Given the description of an element on the screen output the (x, y) to click on. 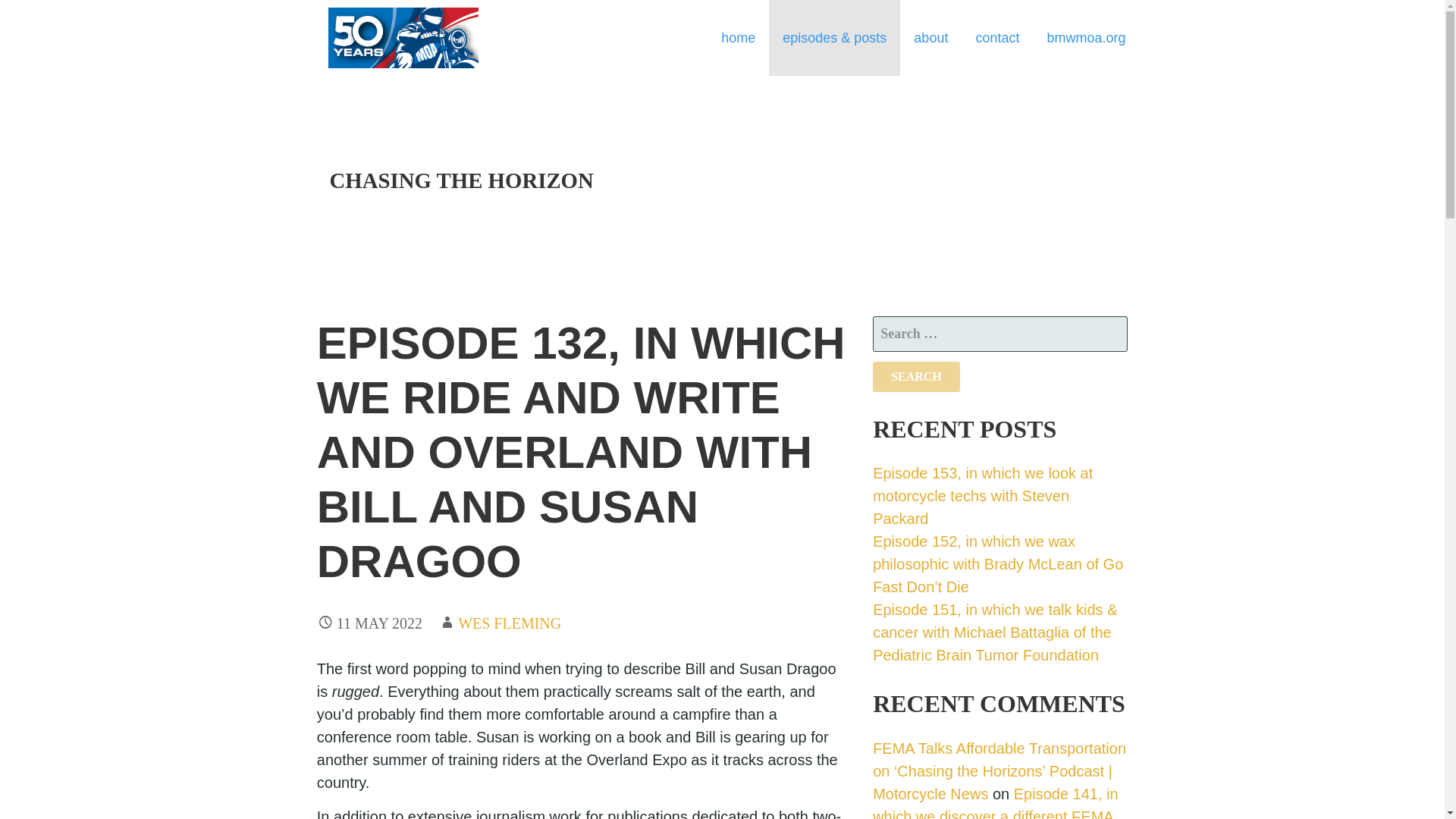
bmwmoa.org (1085, 38)
Search (915, 376)
Search (915, 376)
contact (996, 38)
Search (915, 376)
WES FLEMING (509, 623)
Posts by Wes Fleming (509, 623)
